Given the description of an element on the screen output the (x, y) to click on. 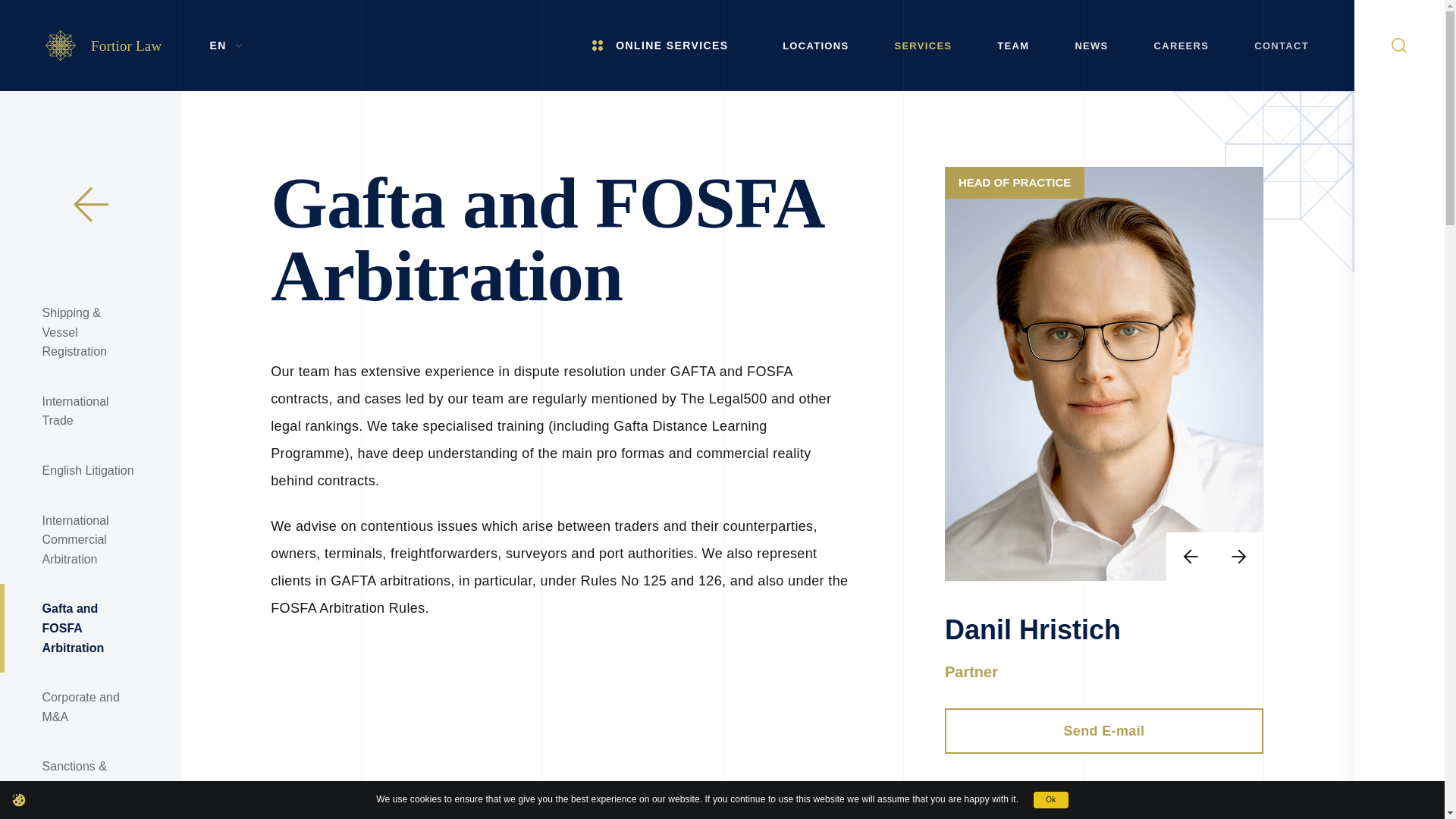
Send E-mail (1103, 730)
TEAM (1012, 45)
CAREERS (1181, 45)
Fortior Law (103, 45)
SERVICES (922, 45)
ONLINE SERVICES (669, 45)
LOCATIONS (815, 45)
International Commercial Arbitration (90, 540)
International Trade (90, 410)
Investment Arbitration (90, 815)
CONTACT (1281, 45)
NEWS (1091, 45)
EN (224, 45)
Gafta and FOSFA Arbitration (90, 627)
English Litigation (90, 470)
